Given the description of an element on the screen output the (x, y) to click on. 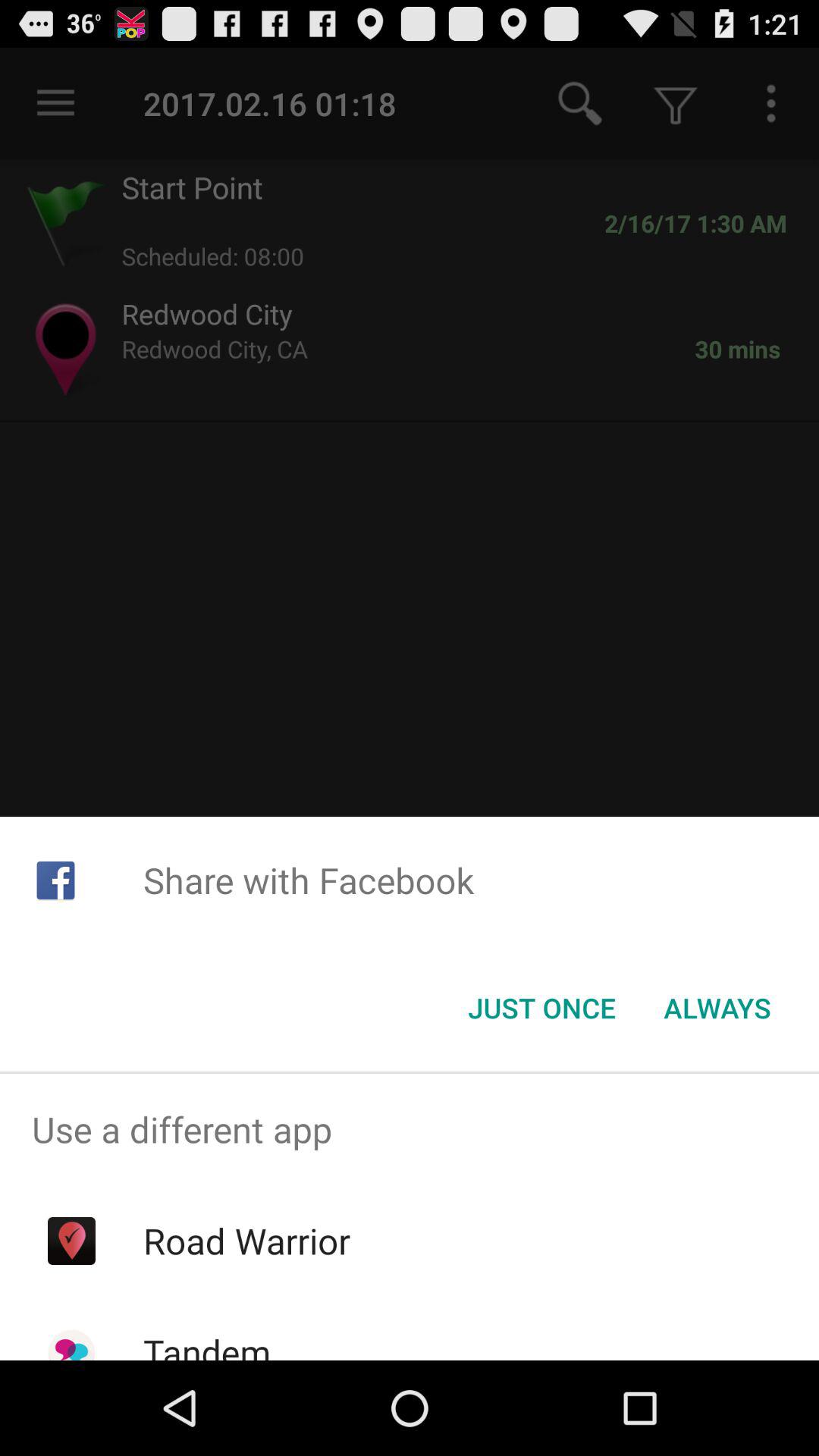
launch the button to the left of the always icon (541, 1007)
